Given the description of an element on the screen output the (x, y) to click on. 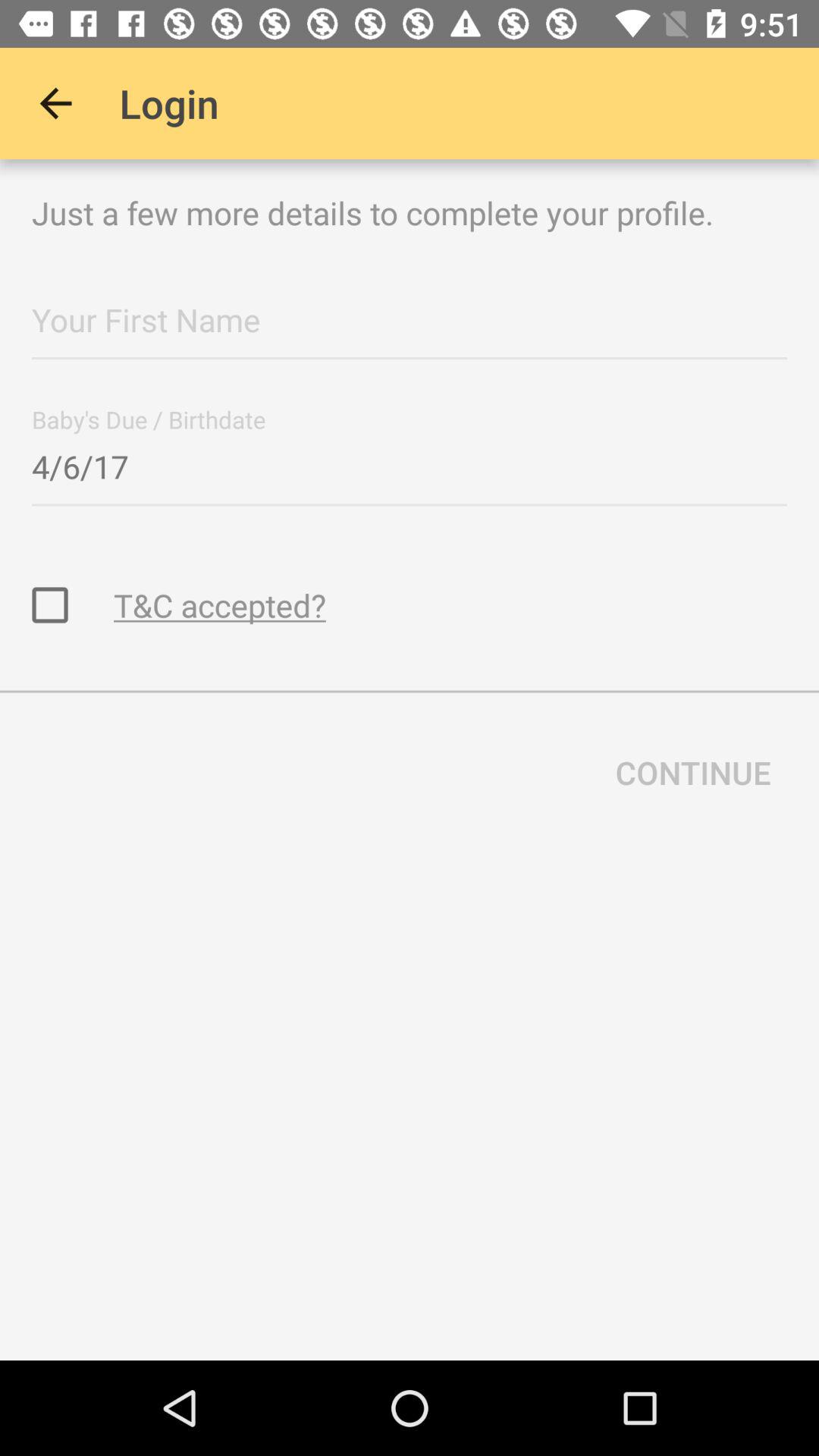
launch the icon below the 4/6/17 item (219, 604)
